Given the description of an element on the screen output the (x, y) to click on. 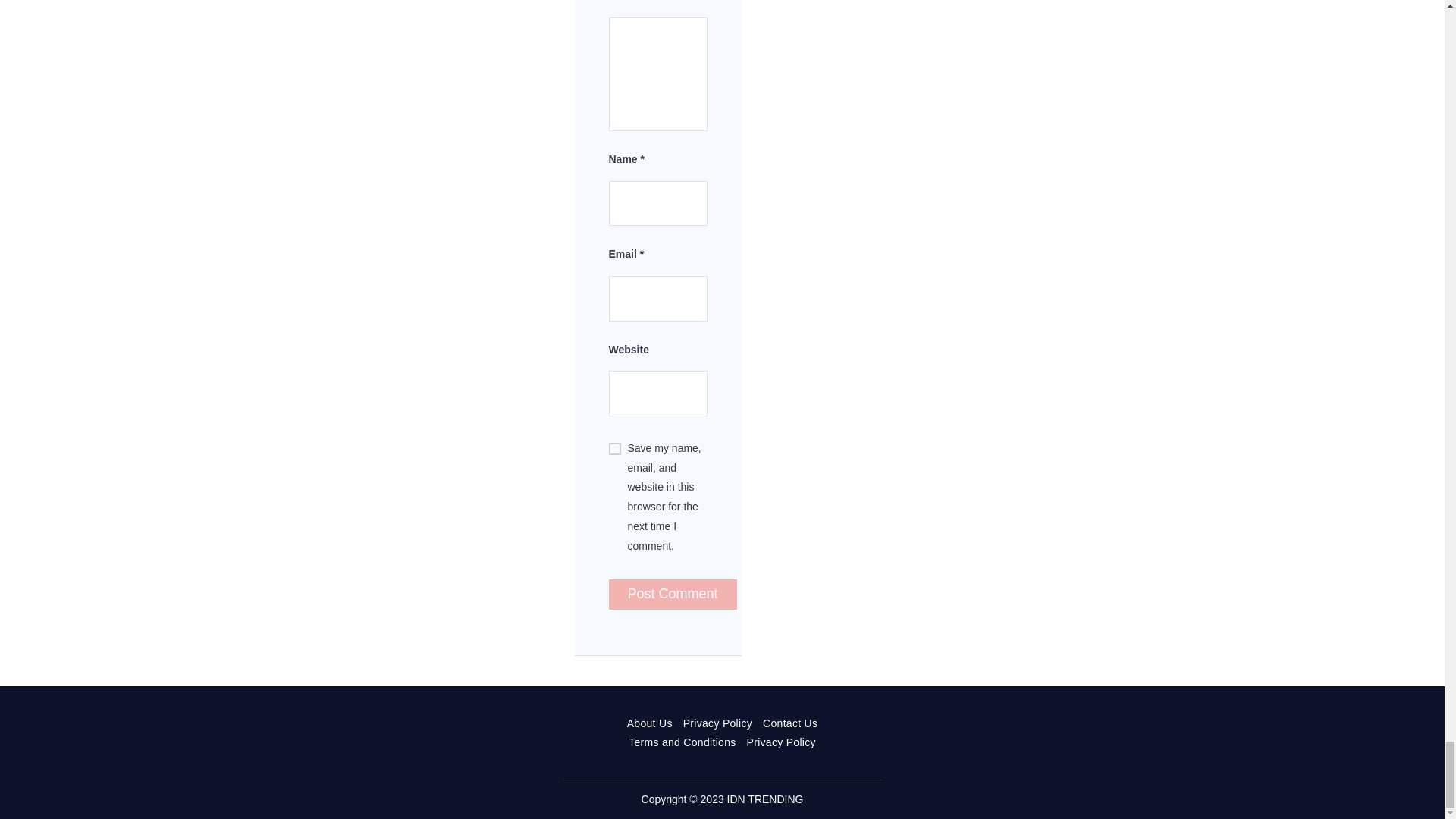
Post Comment (672, 594)
